Given the description of an element on the screen output the (x, y) to click on. 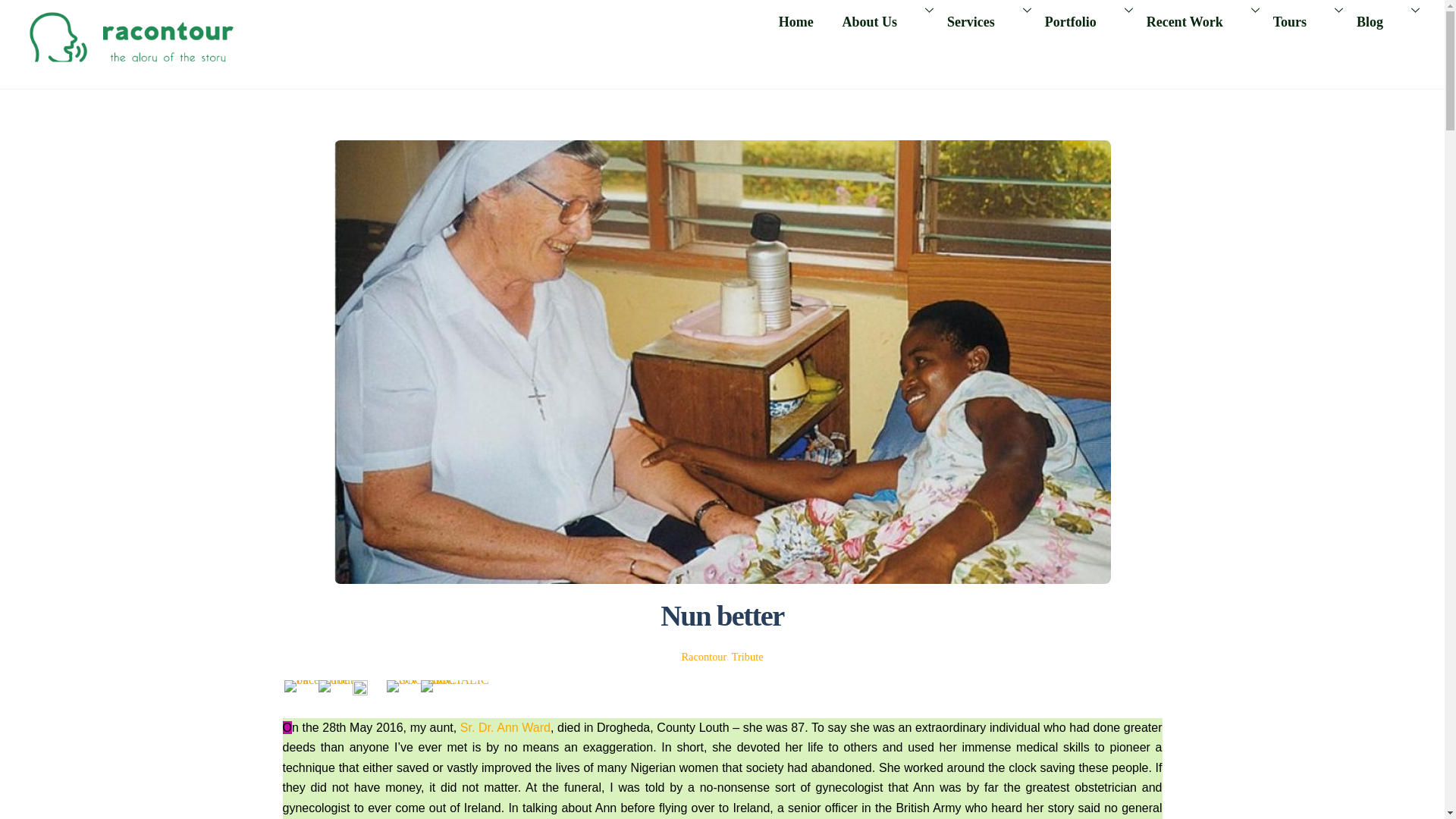
SOCIALICON (423, 686)
SOCIALICON (457, 686)
About Us (880, 22)
Youtube (338, 686)
Facebook (307, 686)
Tours (1300, 22)
Services (722, 22)
Portfolio (981, 22)
racontour.com (1081, 22)
